Given the description of an element on the screen output the (x, y) to click on. 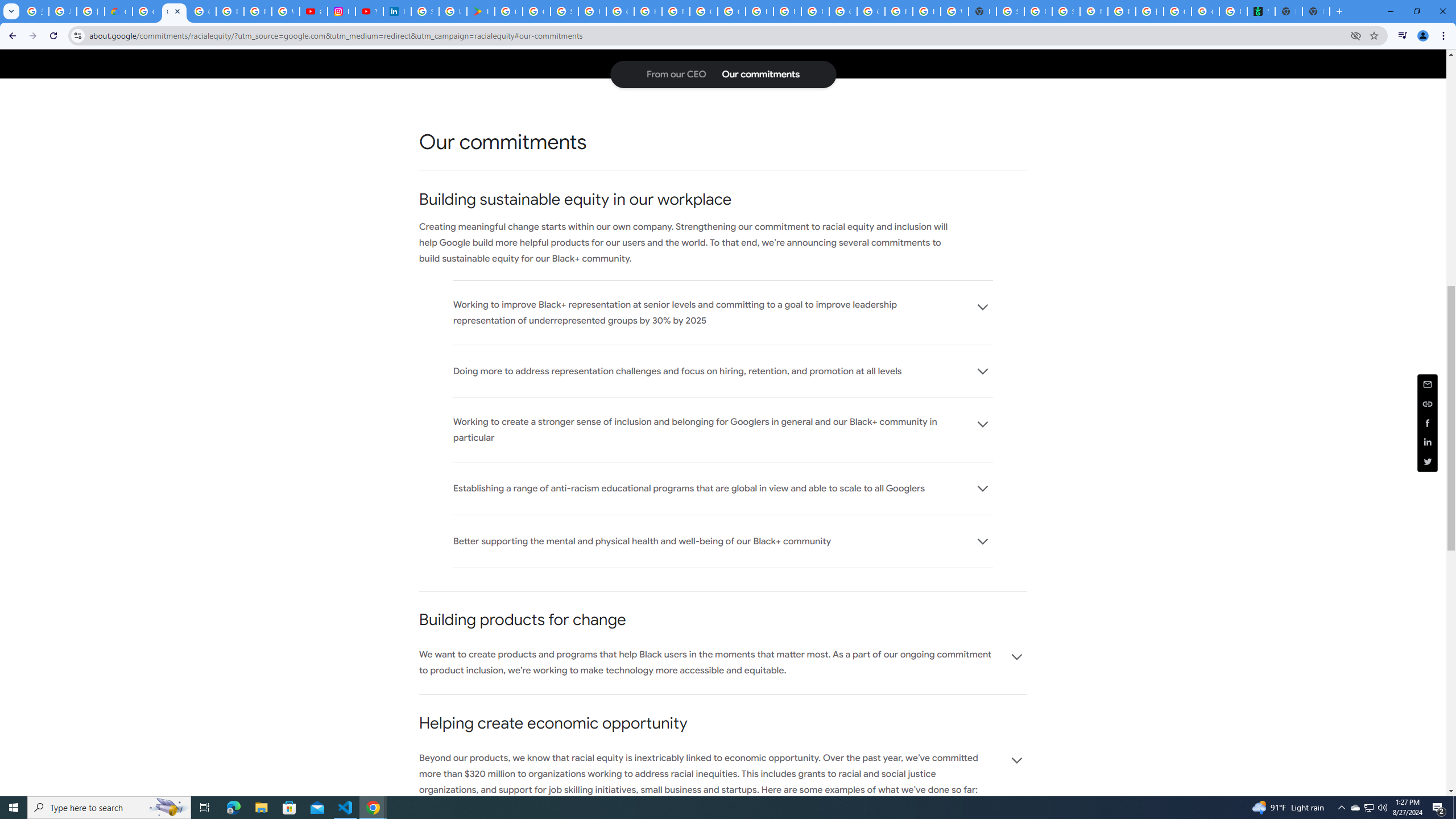
YouTube Culture & Trends - On The Rise: Handcam Videos (369, 11)
Google Cloud Platform (870, 11)
Sign in - Google Accounts (425, 11)
Share this page (Facebook) (1427, 422)
New Tab (982, 11)
